Given the description of an element on the screen output the (x, y) to click on. 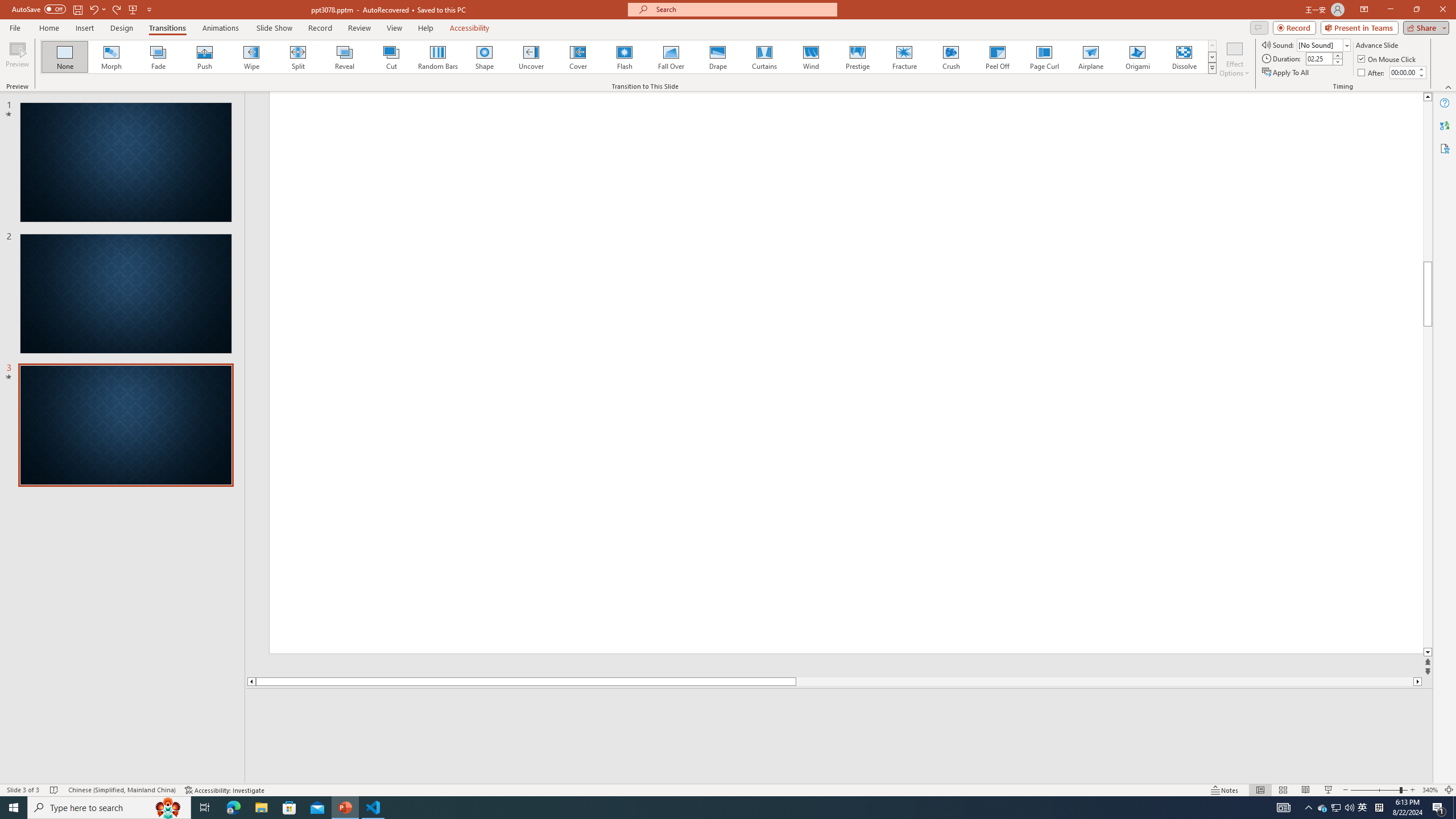
Shape (484, 56)
Morph (111, 56)
After (1403, 72)
Peel Off (997, 56)
Dissolve (1183, 56)
Fracture (903, 56)
